Given the description of an element on the screen output the (x, y) to click on. 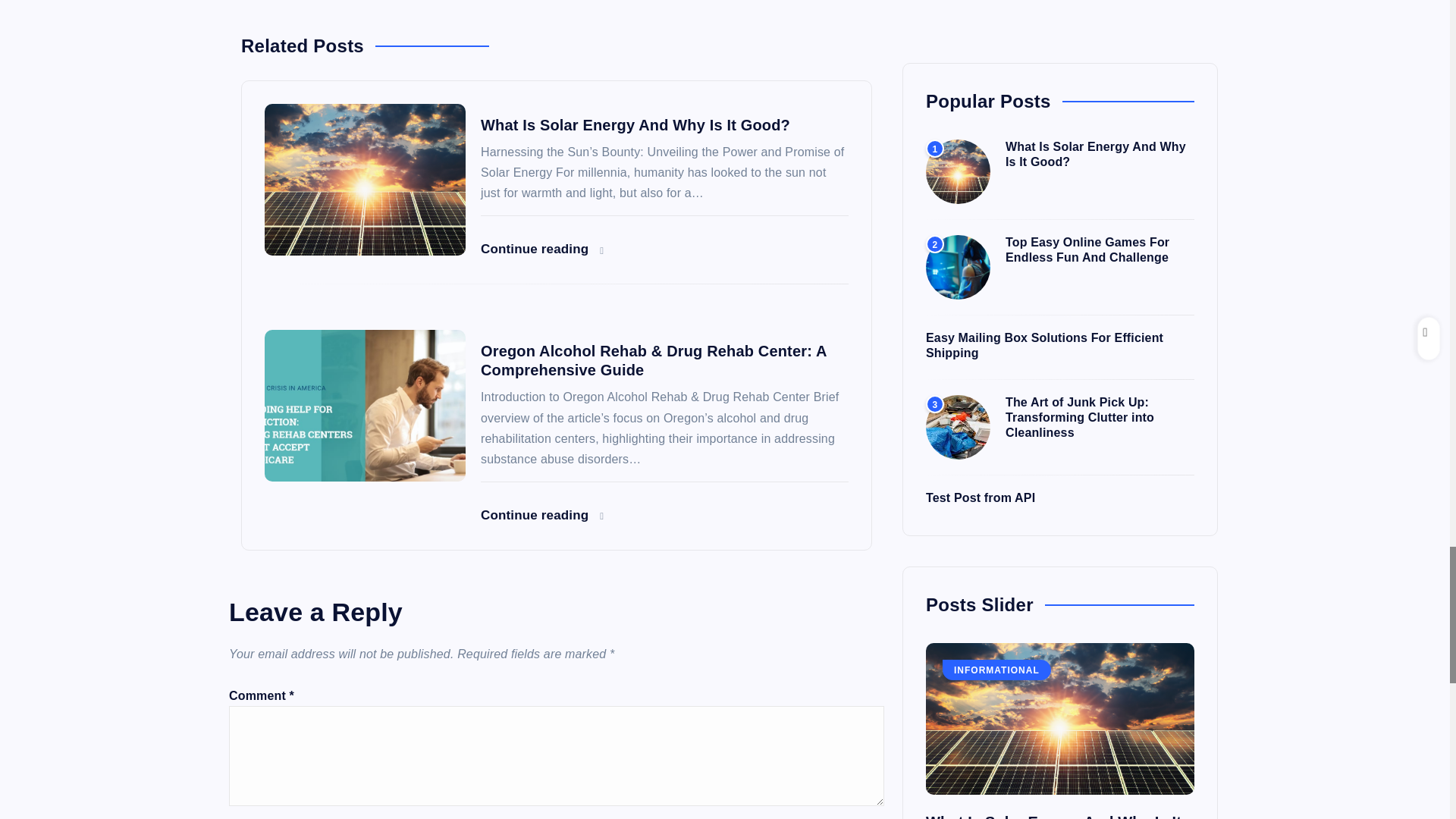
Continue reading (542, 514)
Continue reading (542, 248)
